Given the description of an element on the screen output the (x, y) to click on. 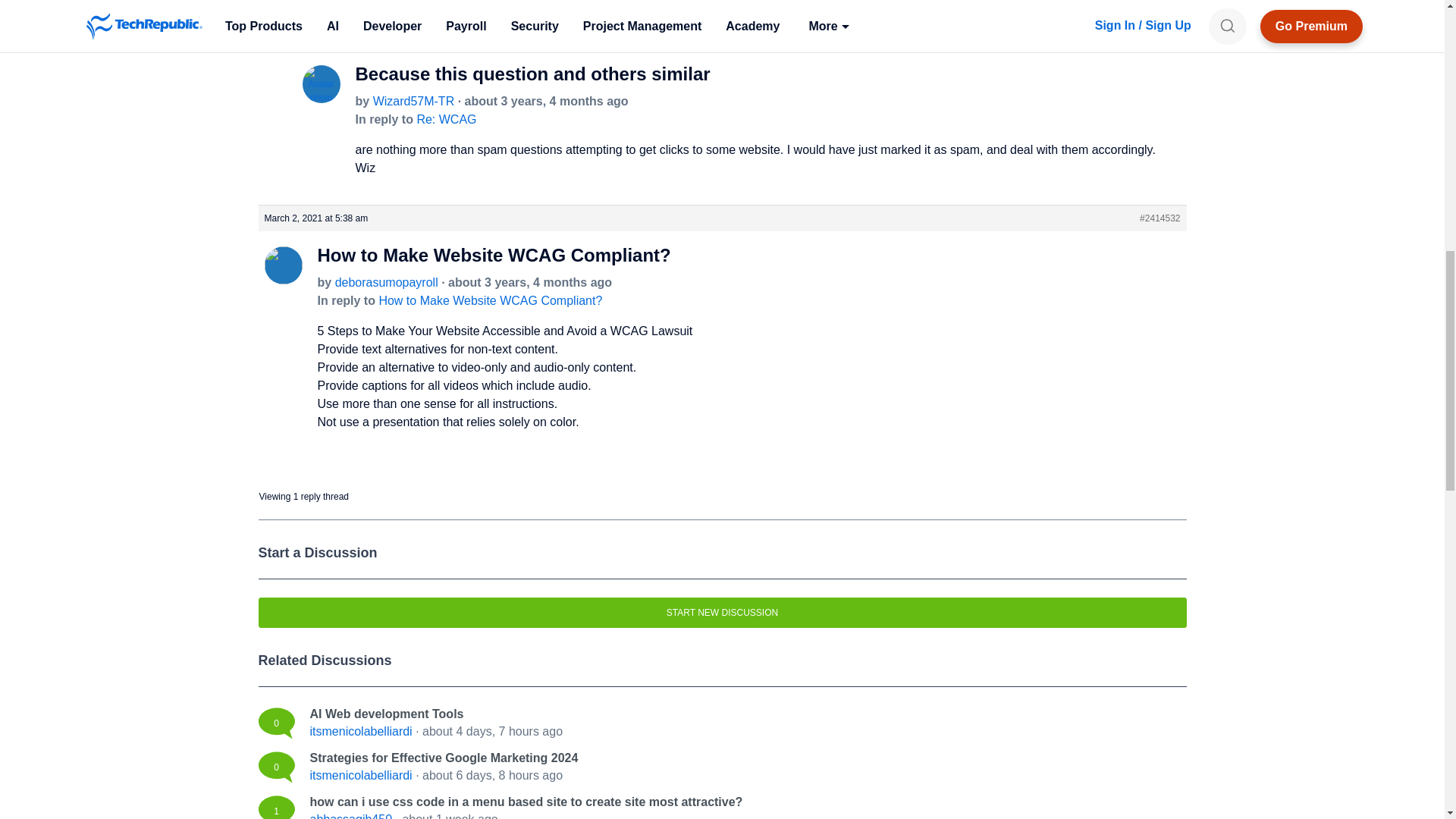
View deborasumopayroll's profile (386, 282)
View Wizard57M-TR's profile (320, 95)
View deborasumopayroll's profile (282, 276)
View abbassaqib450's profile (349, 816)
View itsmenicolabelliardi's profile (360, 775)
View Wizard57M-TR's profile (413, 101)
View itsmenicolabelliardi's profile (360, 730)
